Given the description of an element on the screen output the (x, y) to click on. 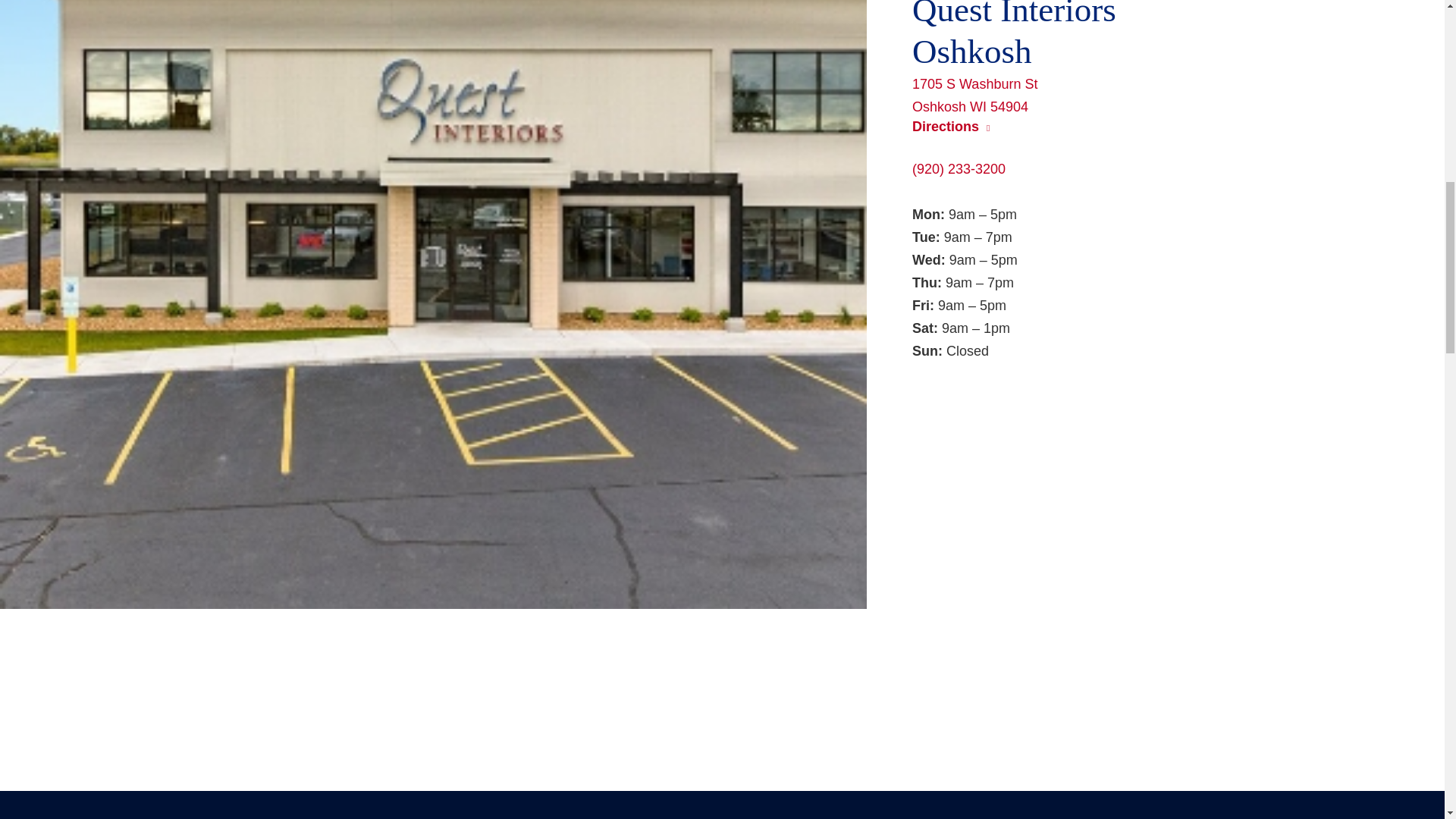
Directions (1172, 94)
